Given the description of an element on the screen output the (x, y) to click on. 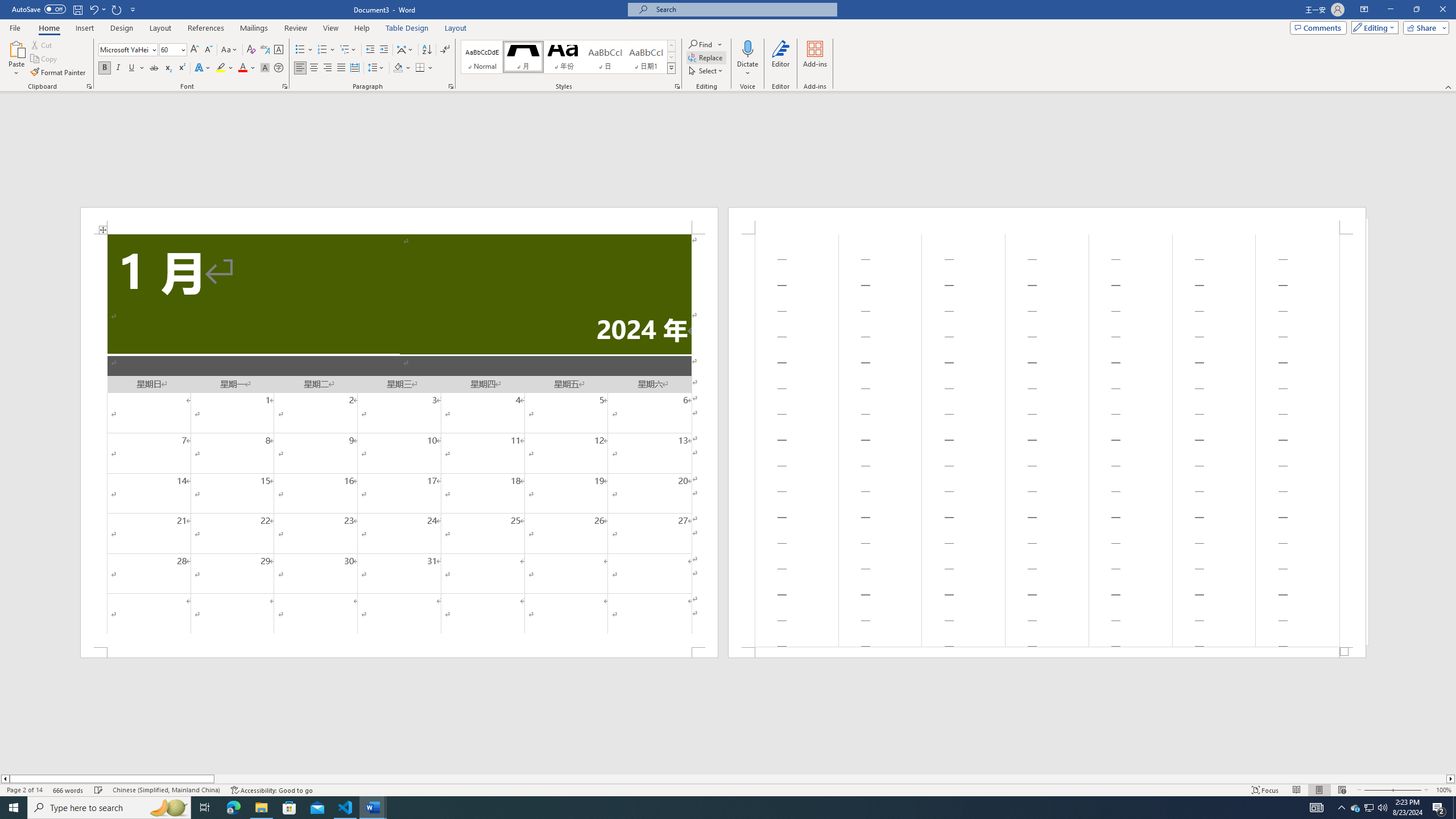
Font Size (172, 49)
AutomationID: QuickStylesGallery (568, 56)
System (6, 6)
Font Size (169, 49)
Insert (83, 28)
Character Border (278, 49)
System (6, 6)
Show/Hide Editing Marks (444, 49)
Dictate (747, 48)
